Given the description of an element on the screen output the (x, y) to click on. 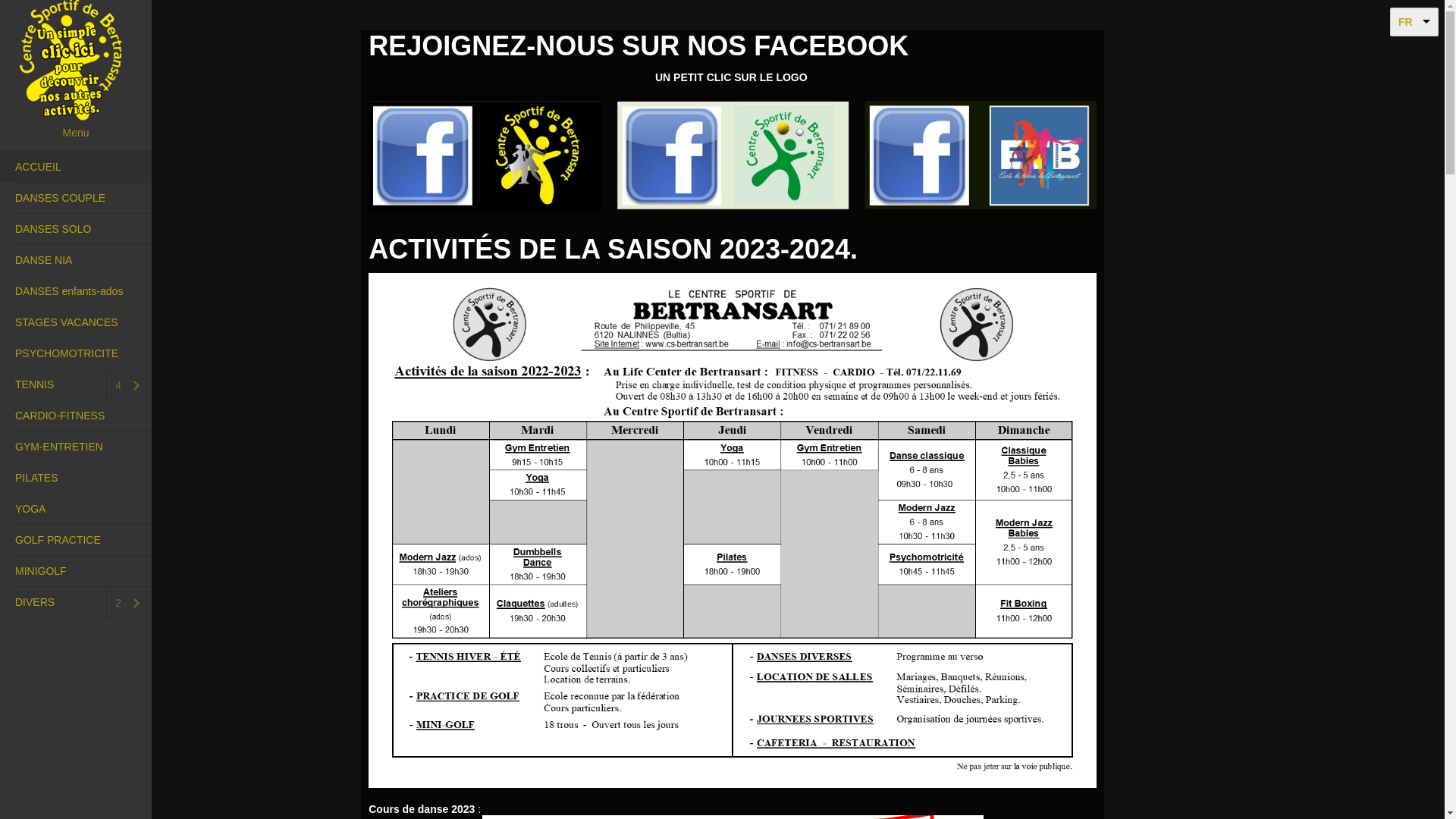
DANSES COUPLE Element type: text (75, 197)
YOGA Element type: text (75, 508)
TENNIS Element type: text (45, 384)
DANSES SOLO Element type: text (75, 228)
GOLF PRACTICE Element type: text (75, 539)
GYM-ENTRETIEN Element type: text (75, 446)
DANSES enfants-ados Element type: text (75, 291)
STAGES VACANCES Element type: text (75, 322)
ACCUEIL Element type: text (75, 166)
MINIGOLF Element type: text (75, 570)
PILATES Element type: text (75, 477)
FR Element type: text (1413, 21)
CARDIO-FITNESS Element type: text (75, 415)
PSYCHOMOTRICITE Element type: text (75, 353)
DIVERS Element type: text (45, 601)
DANSE NIA Element type: text (75, 259)
